Given the description of an element on the screen output the (x, y) to click on. 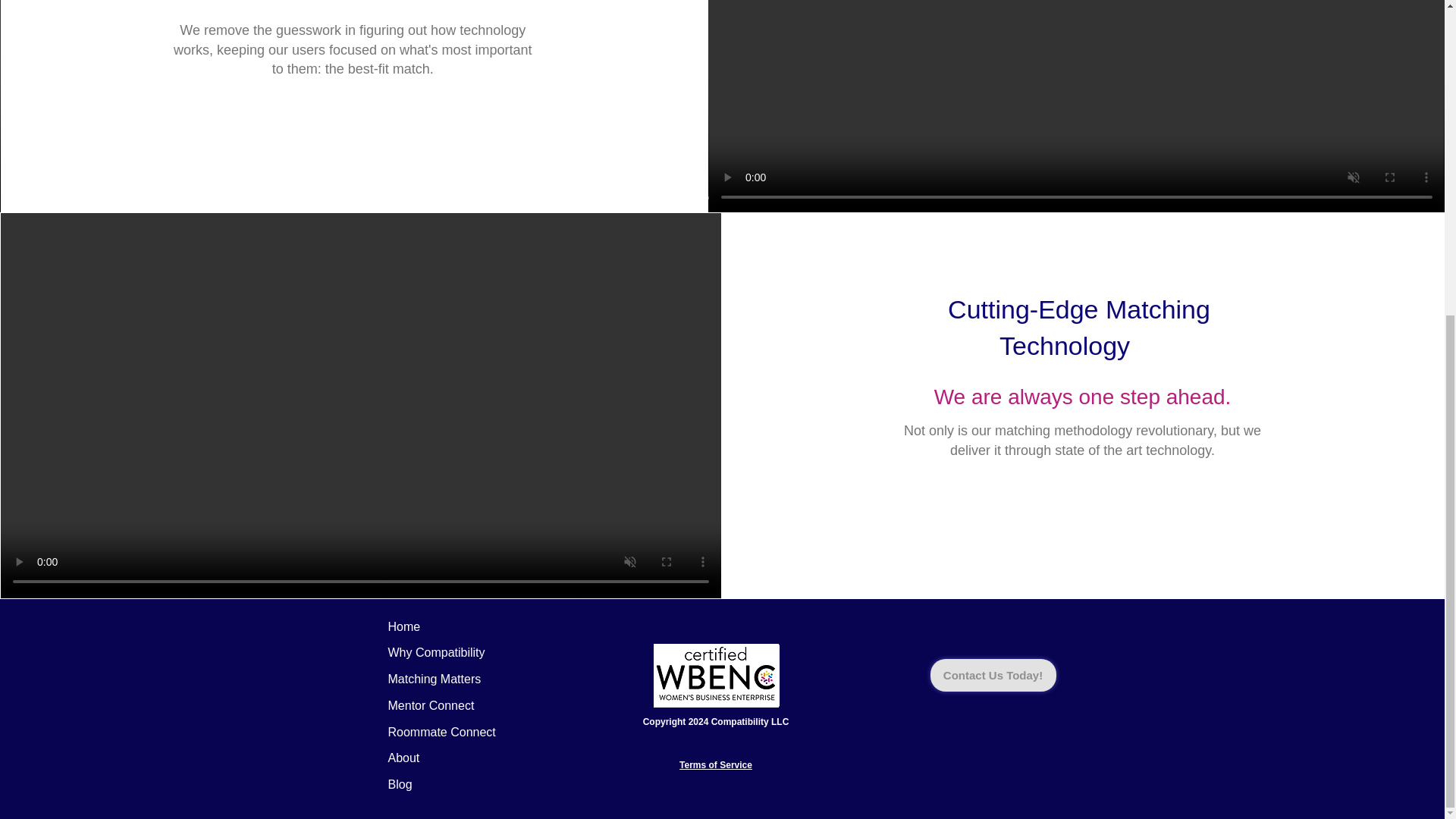
Contact Us Today! (992, 675)
Home (404, 626)
Terms of Service (715, 765)
